Given the description of an element on the screen output the (x, y) to click on. 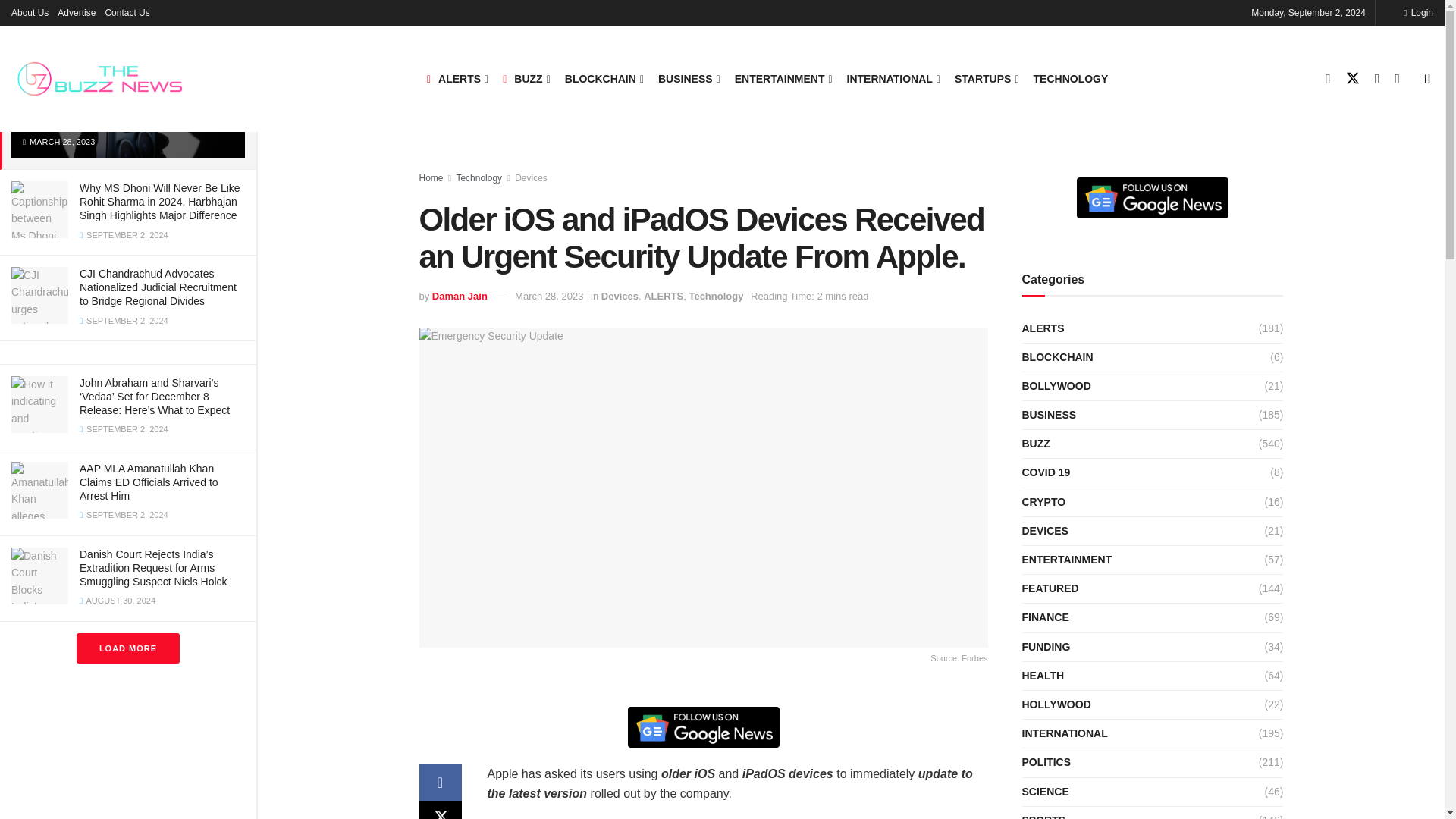
Filter (227, 13)
Contact Us (126, 12)
About Us (29, 12)
Advertise (77, 12)
Login (1417, 12)
LOAD MORE (128, 648)
